Given the description of an element on the screen output the (x, y) to click on. 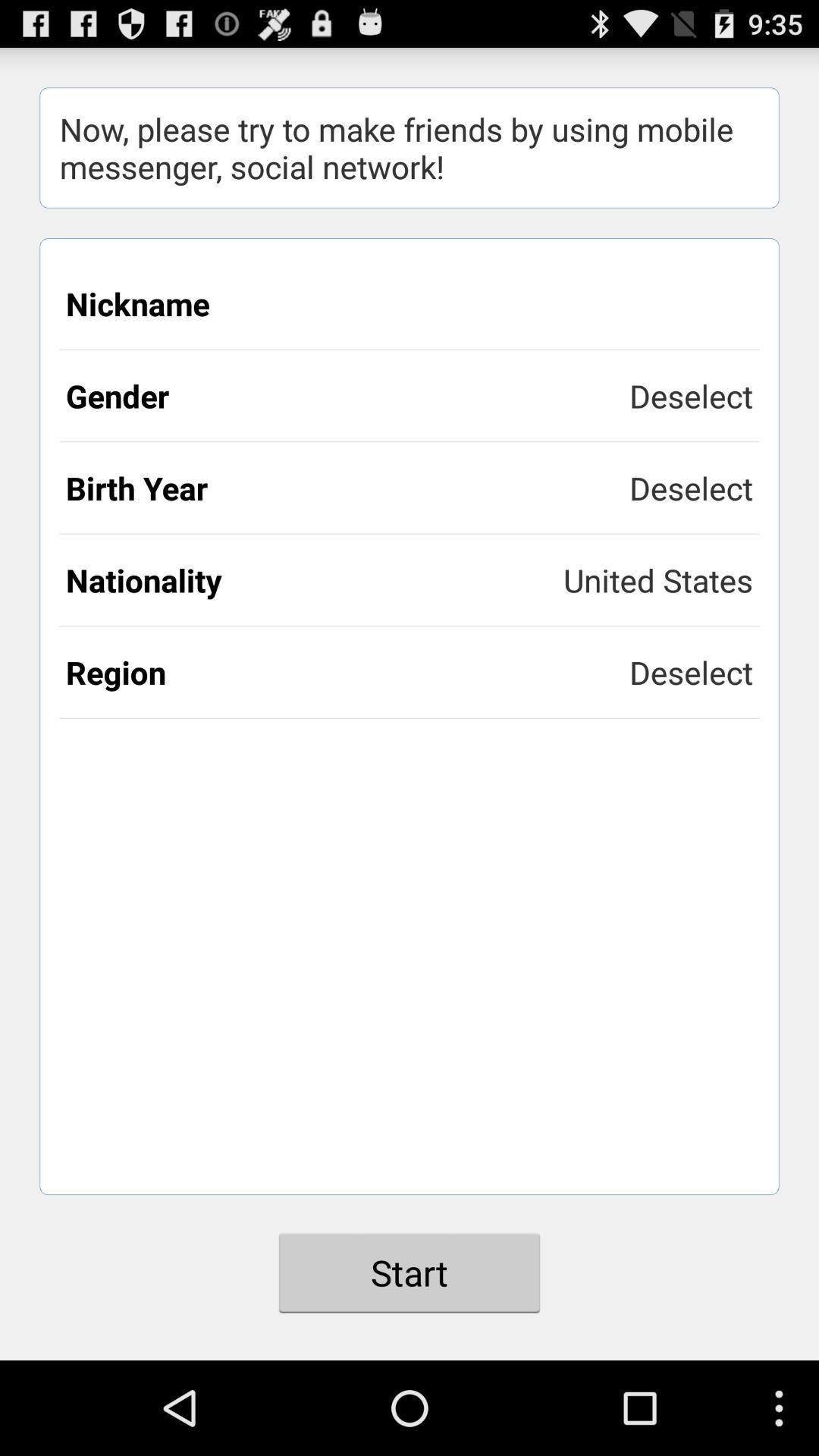
launch the united states (658, 579)
